Given the description of an element on the screen output the (x, y) to click on. 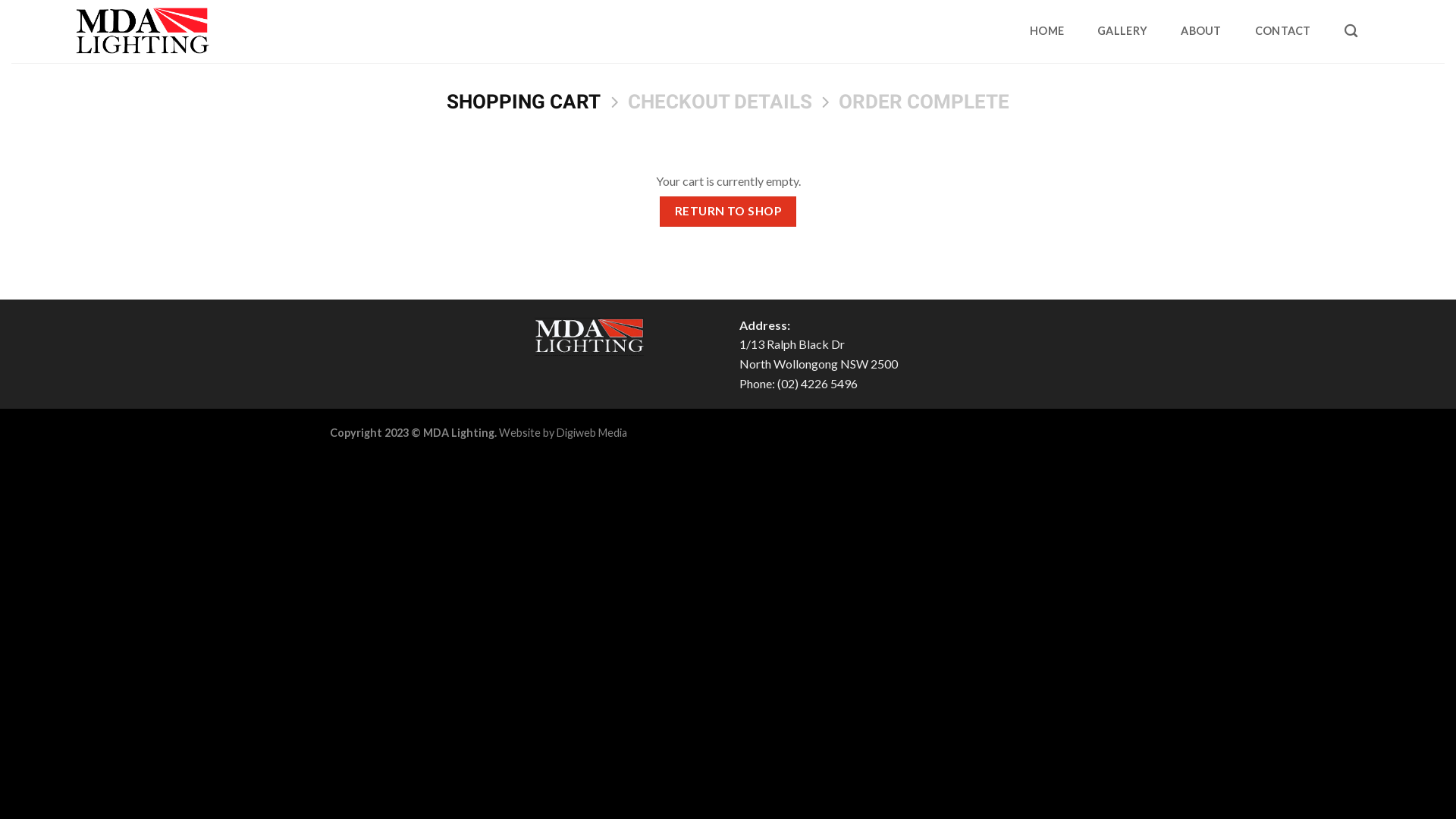
CONTACT Element type: text (1283, 30)
Digiweb Media Element type: text (591, 432)
MDA Lighting - Lighting Importer Element type: hover (142, 31)
ORDER COMPLETE Element type: text (923, 101)
CHECKOUT DETAILS Element type: text (719, 101)
ABOUT Element type: text (1200, 30)
RETURN TO SHOP Element type: text (727, 210)
GALLERY Element type: text (1122, 30)
HOME Element type: text (1046, 30)
SHOPPING CART Element type: text (523, 101)
